Given the description of an element on the screen output the (x, y) to click on. 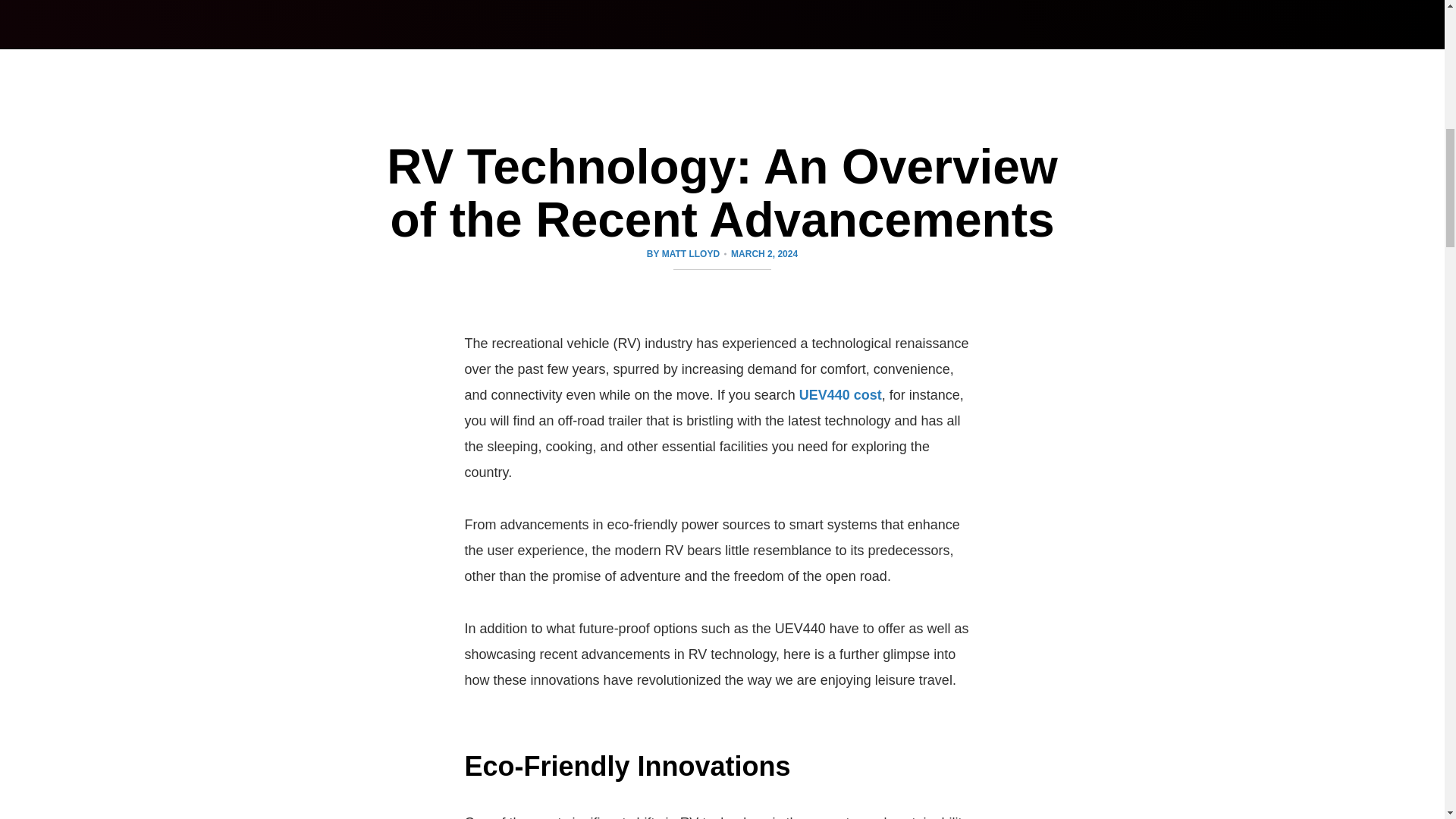
5:30 am (763, 253)
BY MATT LLOYD (686, 253)
View all posts by Matt Lloyd (686, 253)
UEV440 cost (840, 394)
MARCH 2, 2024 (763, 253)
